Given the description of an element on the screen output the (x, y) to click on. 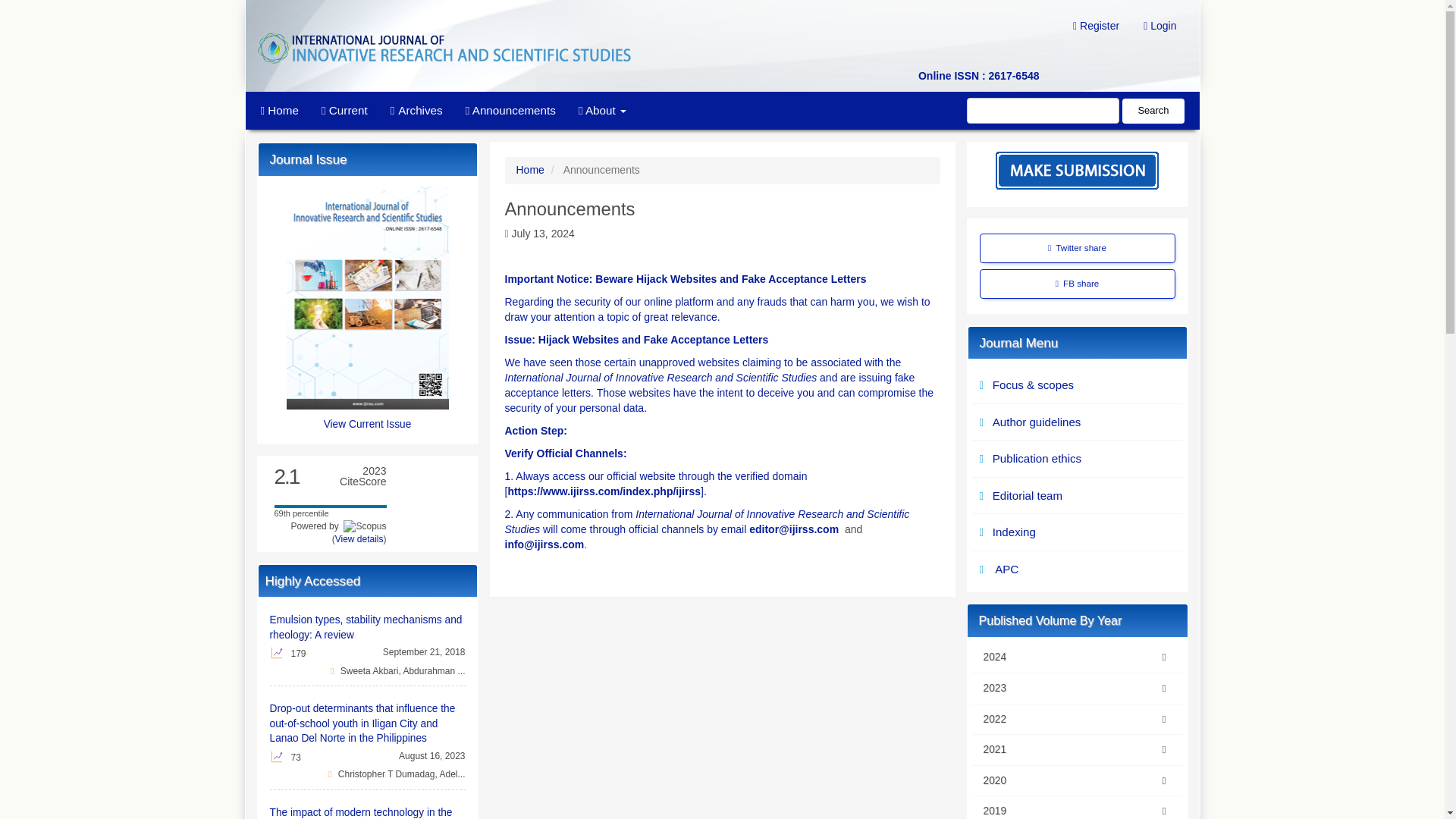
Current (344, 110)
  FB share (1076, 283)
Home (529, 169)
 Publication ethics (1030, 458)
Search (1152, 110)
  Twitter share (1076, 247)
About (602, 110)
View Current Issue (367, 423)
 Editorial team (1020, 495)
Home (279, 110)
Announcements (510, 110)
Archives (416, 110)
Register (1096, 26)
